Given the description of an element on the screen output the (x, y) to click on. 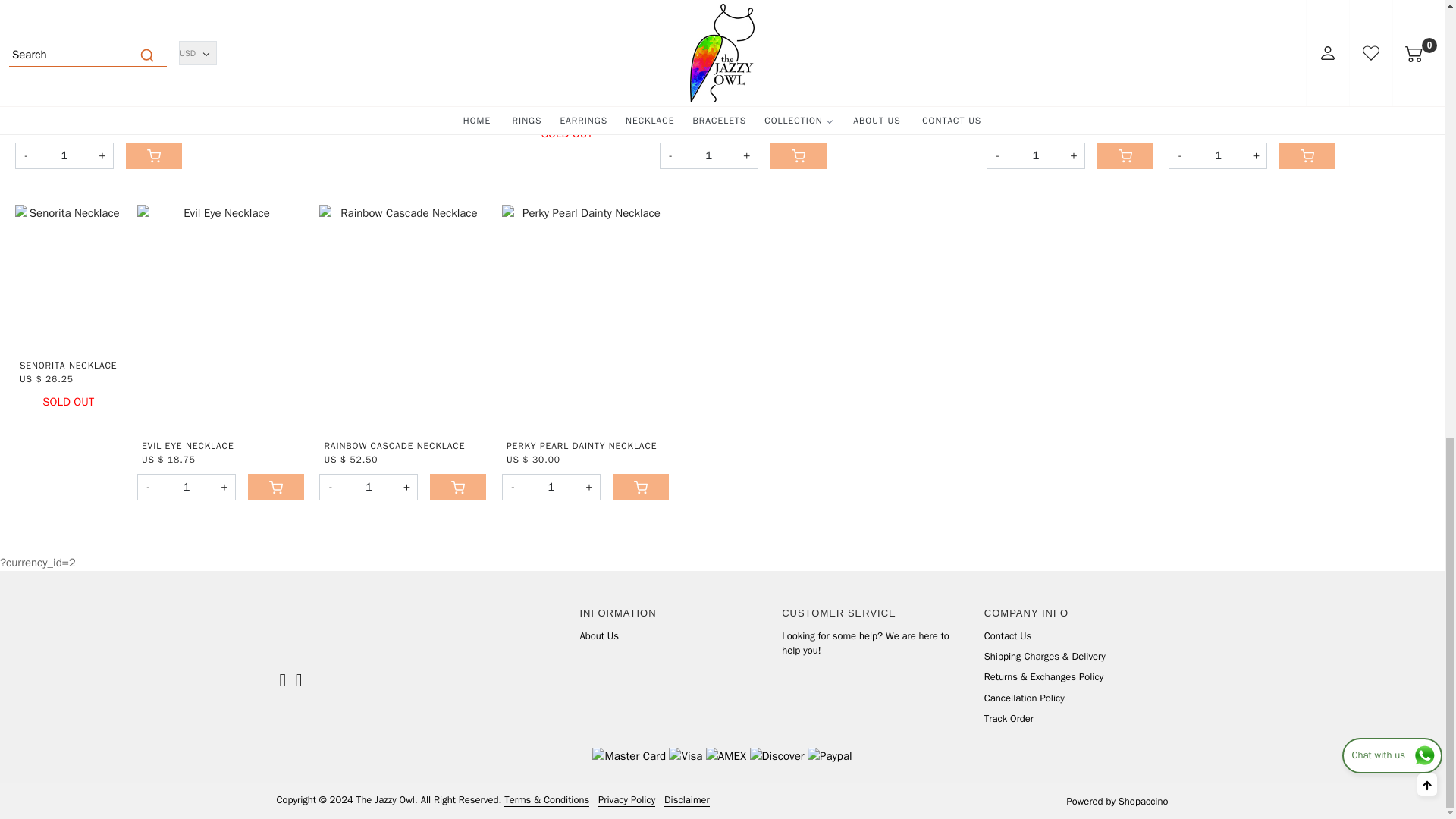
1 (185, 487)
1 (63, 155)
1 (550, 487)
1 (708, 155)
Shopaccino (1143, 800)
1 (367, 487)
1 (1035, 155)
1 (1217, 155)
